Given the description of an element on the screen output the (x, y) to click on. 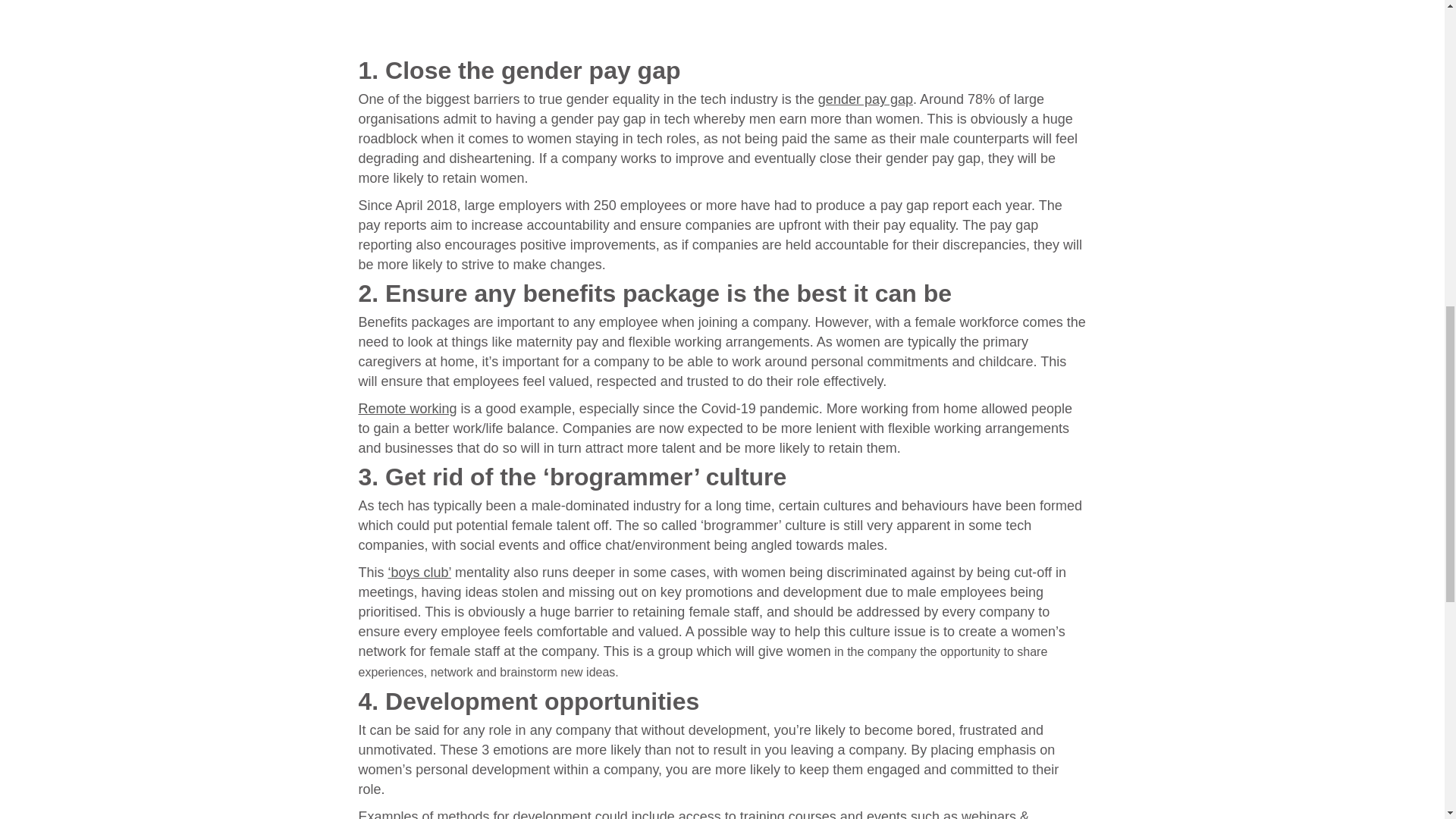
events (886, 814)
Remote working (407, 408)
gender pay gap (865, 99)
training courses (787, 814)
